Given the description of an element on the screen output the (x, y) to click on. 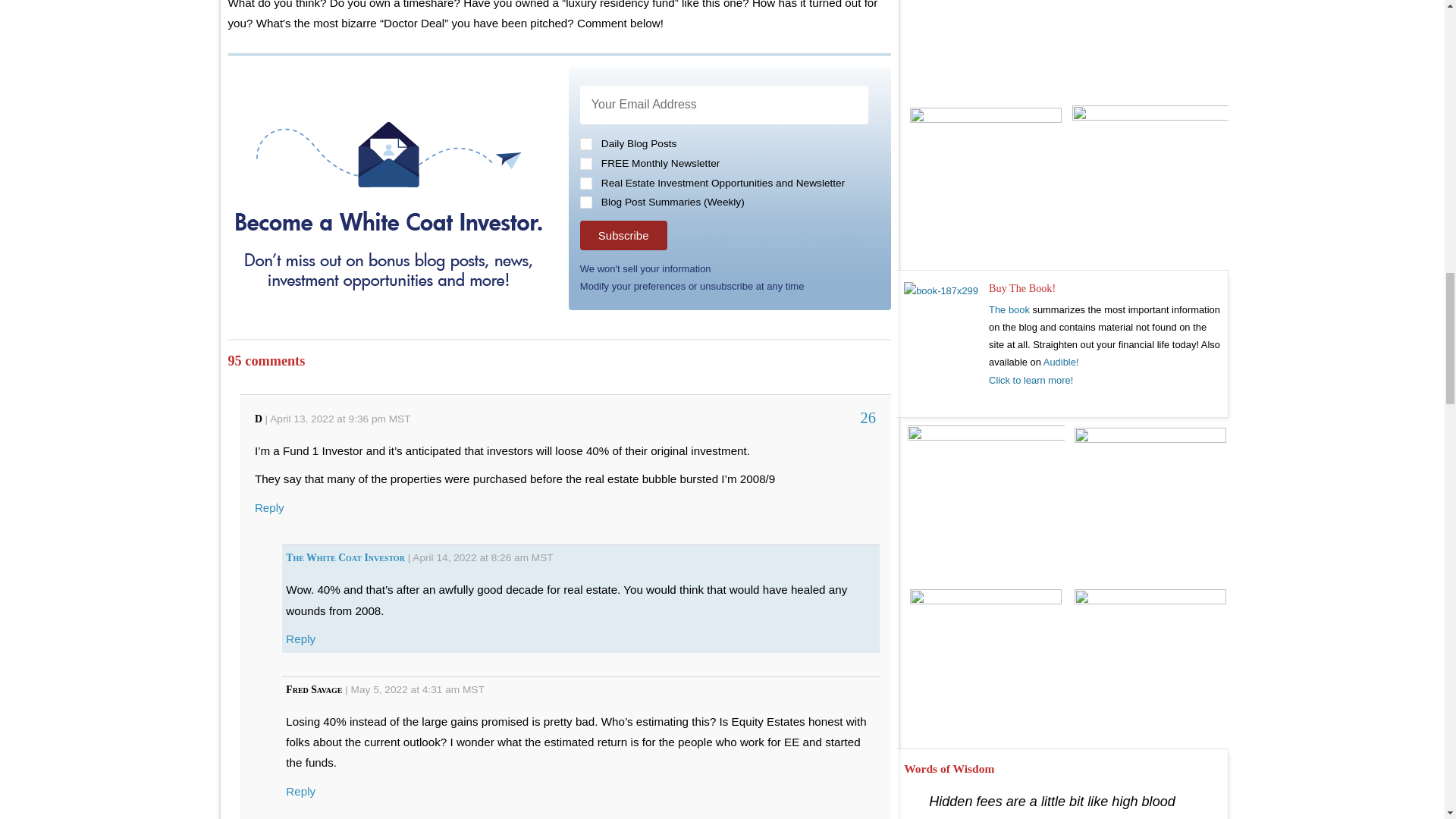
Mountain Standard Time (399, 419)
Mountain Standard Time (473, 689)
Mountain Standard Time (542, 557)
